Given the description of an element on the screen output the (x, y) to click on. 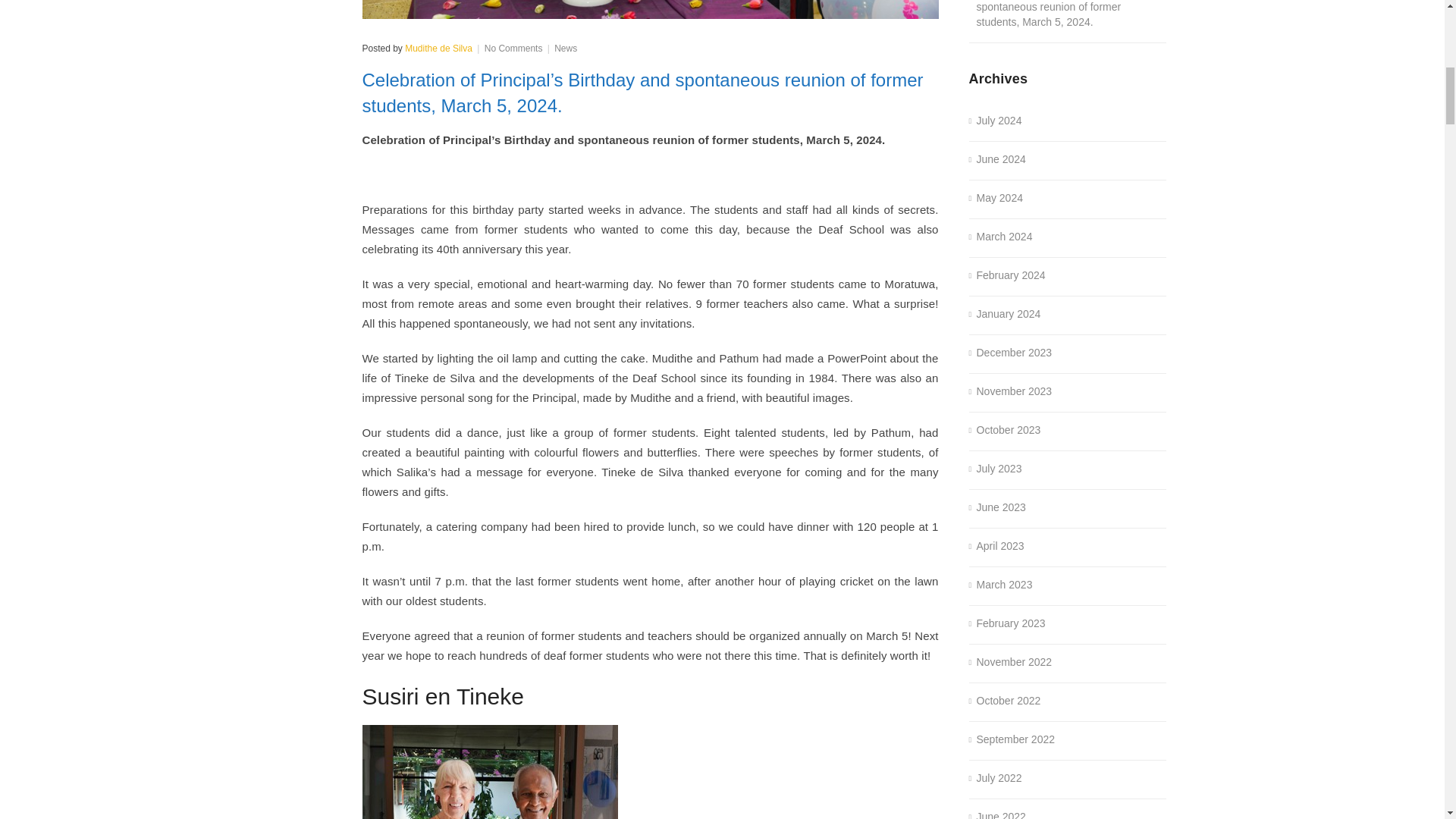
News (565, 48)
Mudithe de Silva (437, 48)
